Given the description of an element on the screen output the (x, y) to click on. 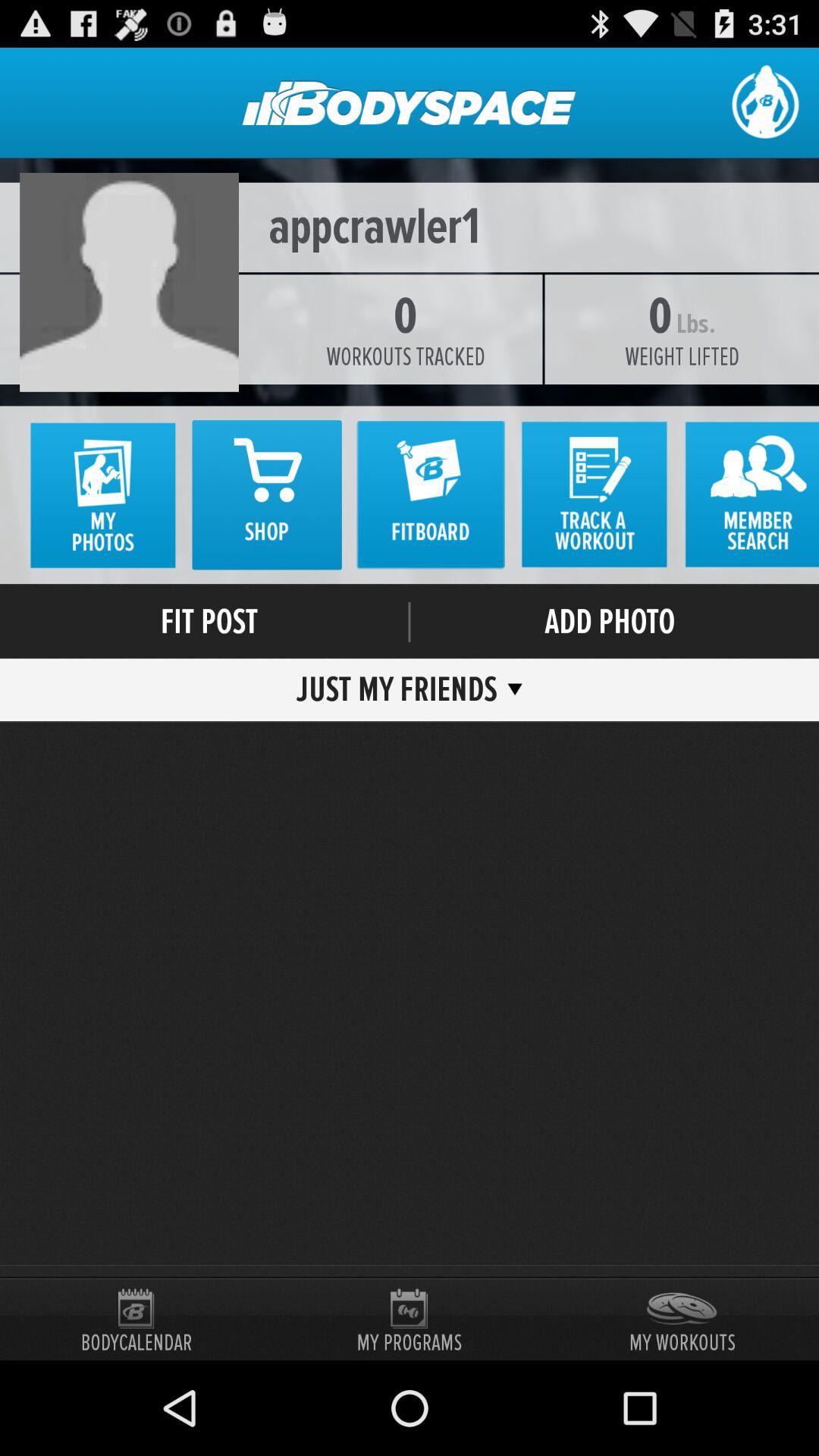
turn on the item below appcrawler1 item (695, 323)
